Given the description of an element on the screen output the (x, y) to click on. 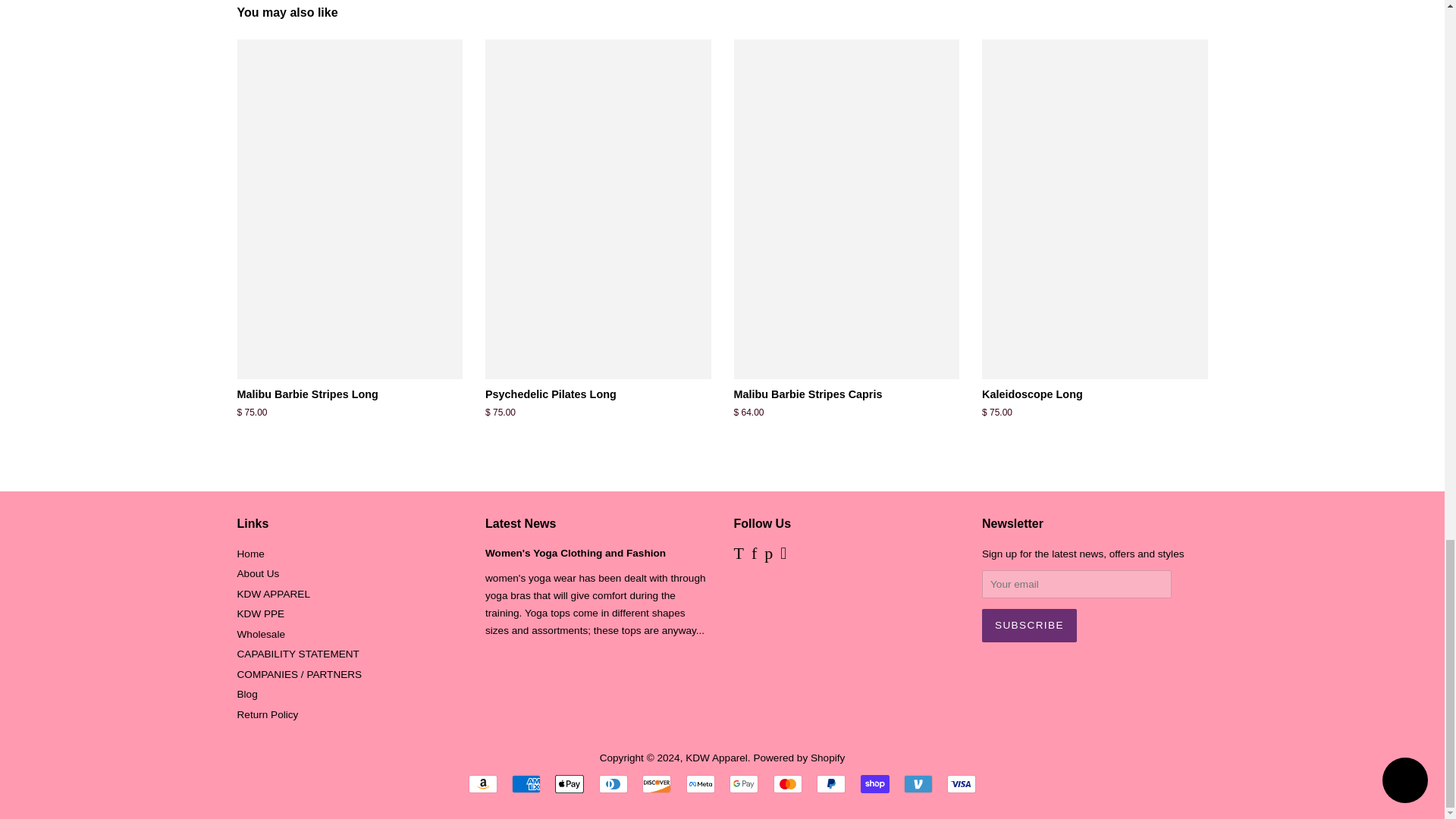
Venmo (918, 783)
Apple Pay (568, 783)
PayPal (830, 783)
Subscribe (1029, 625)
About Us (257, 573)
Mastercard (787, 783)
Visa (961, 783)
Google Pay (743, 783)
Amazon (482, 783)
Discover (656, 783)
